Given the description of an element on the screen output the (x, y) to click on. 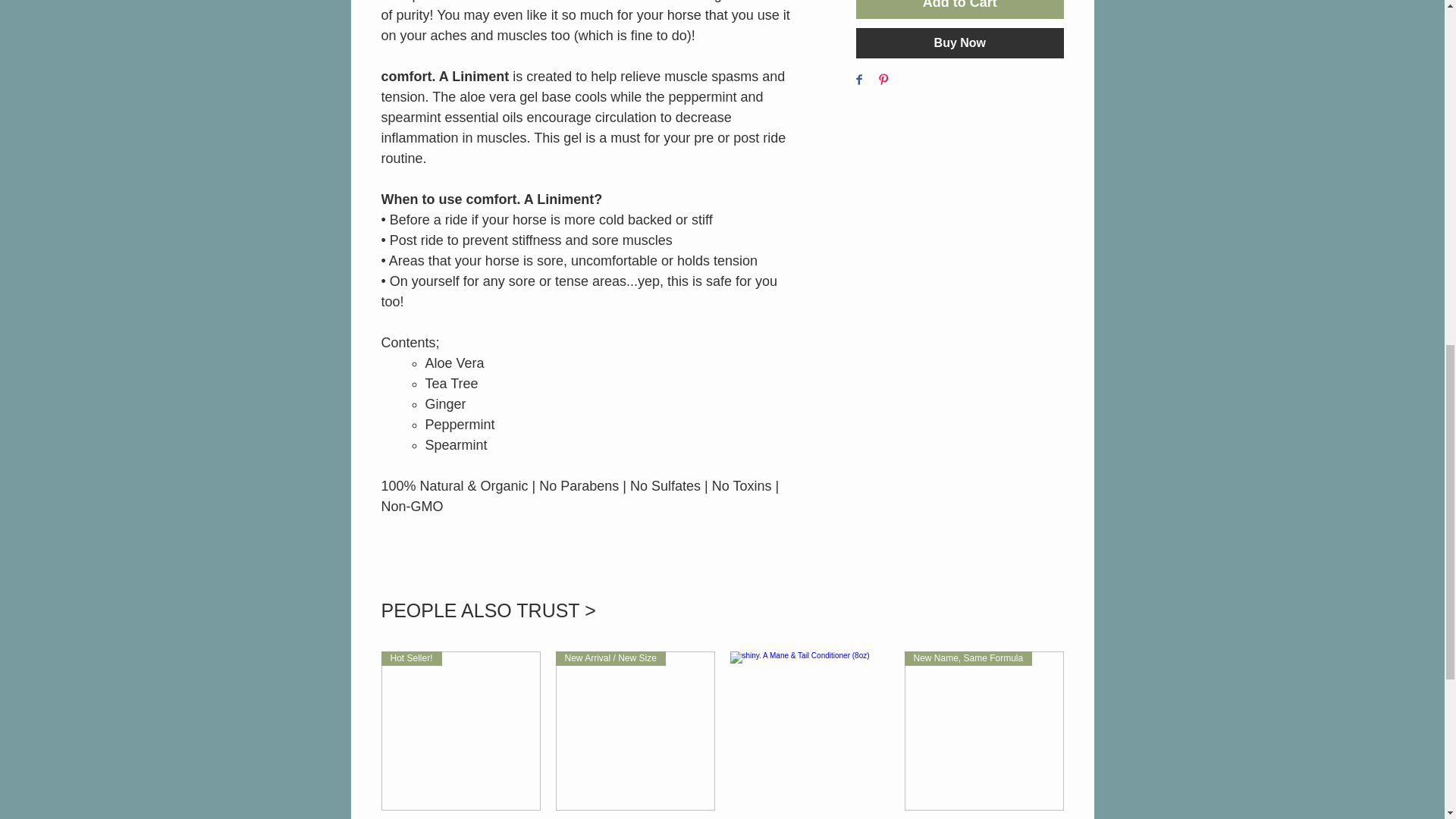
Add to Cart (959, 9)
New Name, Same Formula (983, 730)
Hot Seller! (460, 730)
Buy Now (959, 42)
